Given the description of an element on the screen output the (x, y) to click on. 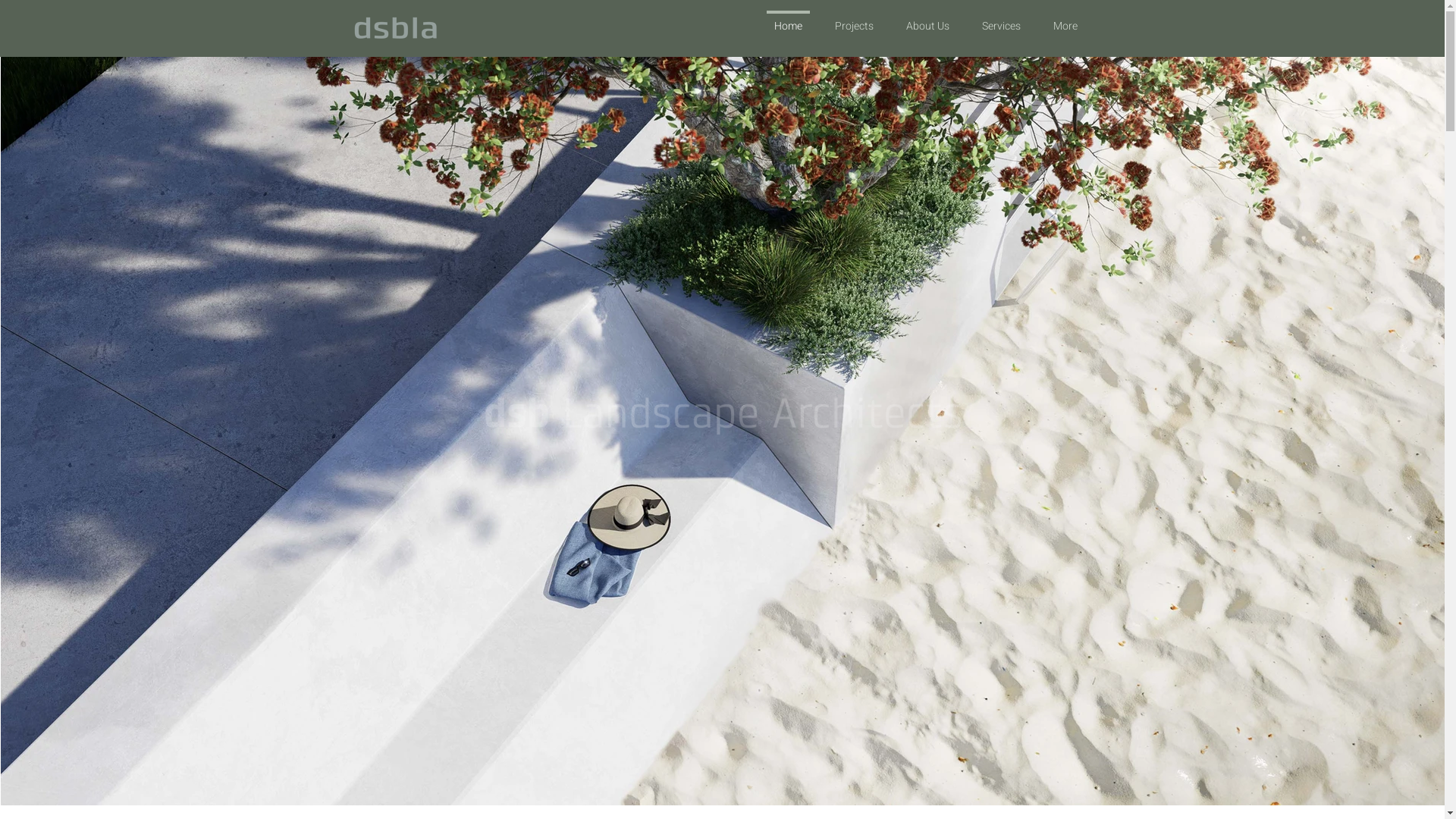
About Us Element type: text (928, 19)
Projects Element type: text (854, 19)
Home Element type: text (787, 19)
Services Element type: text (1001, 19)
